Given the description of an element on the screen output the (x, y) to click on. 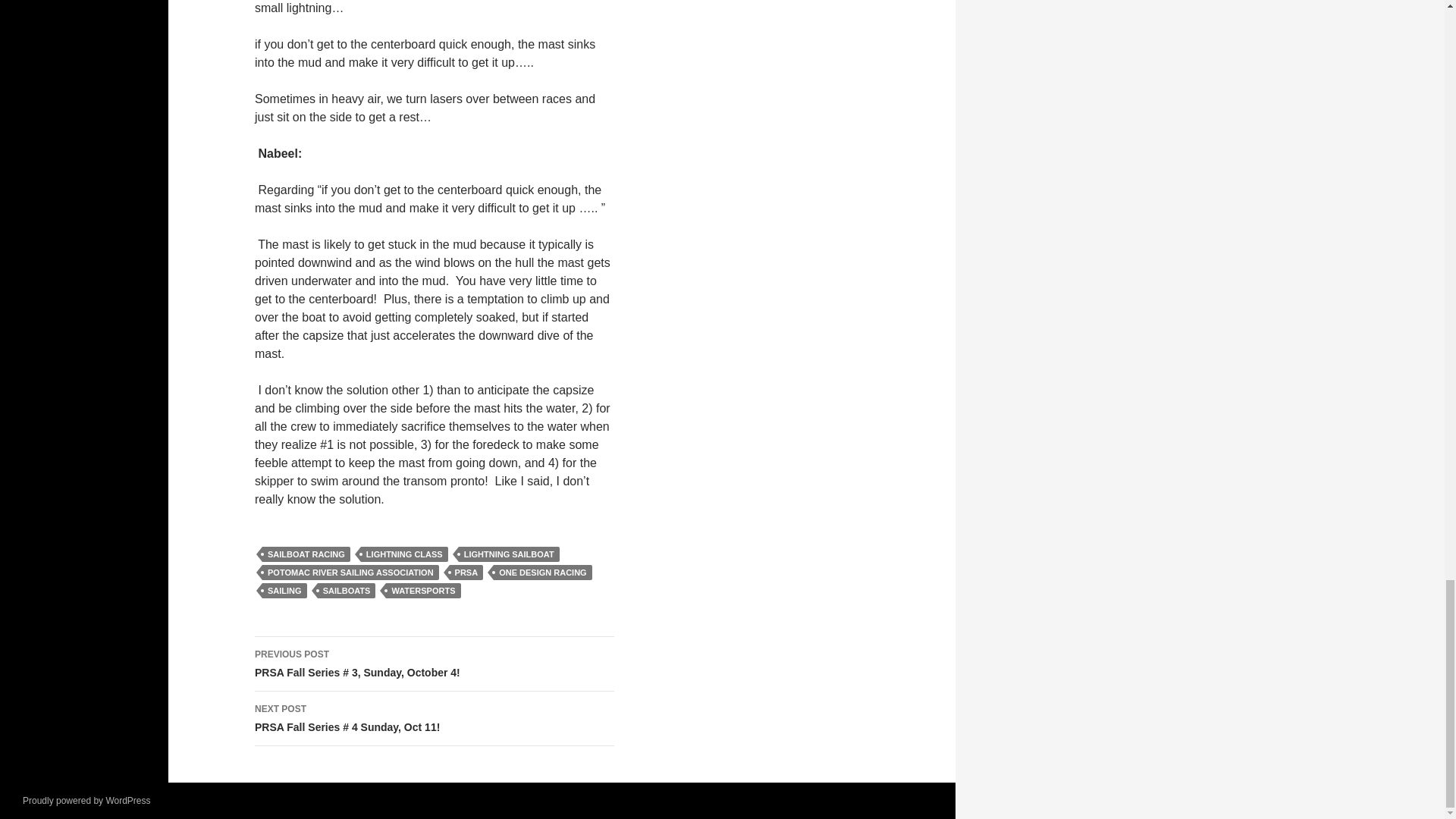
PRSA (466, 572)
POTOMAC RIVER SAILING ASSOCIATION (350, 572)
SAILBOATS (346, 590)
WATERSPORTS (422, 590)
LIGHTNING CLASS (404, 554)
SAILING (284, 590)
ONE DESIGN RACING (542, 572)
SAILBOAT RACING (306, 554)
LIGHTNING SAILBOAT (508, 554)
